Given the description of an element on the screen output the (x, y) to click on. 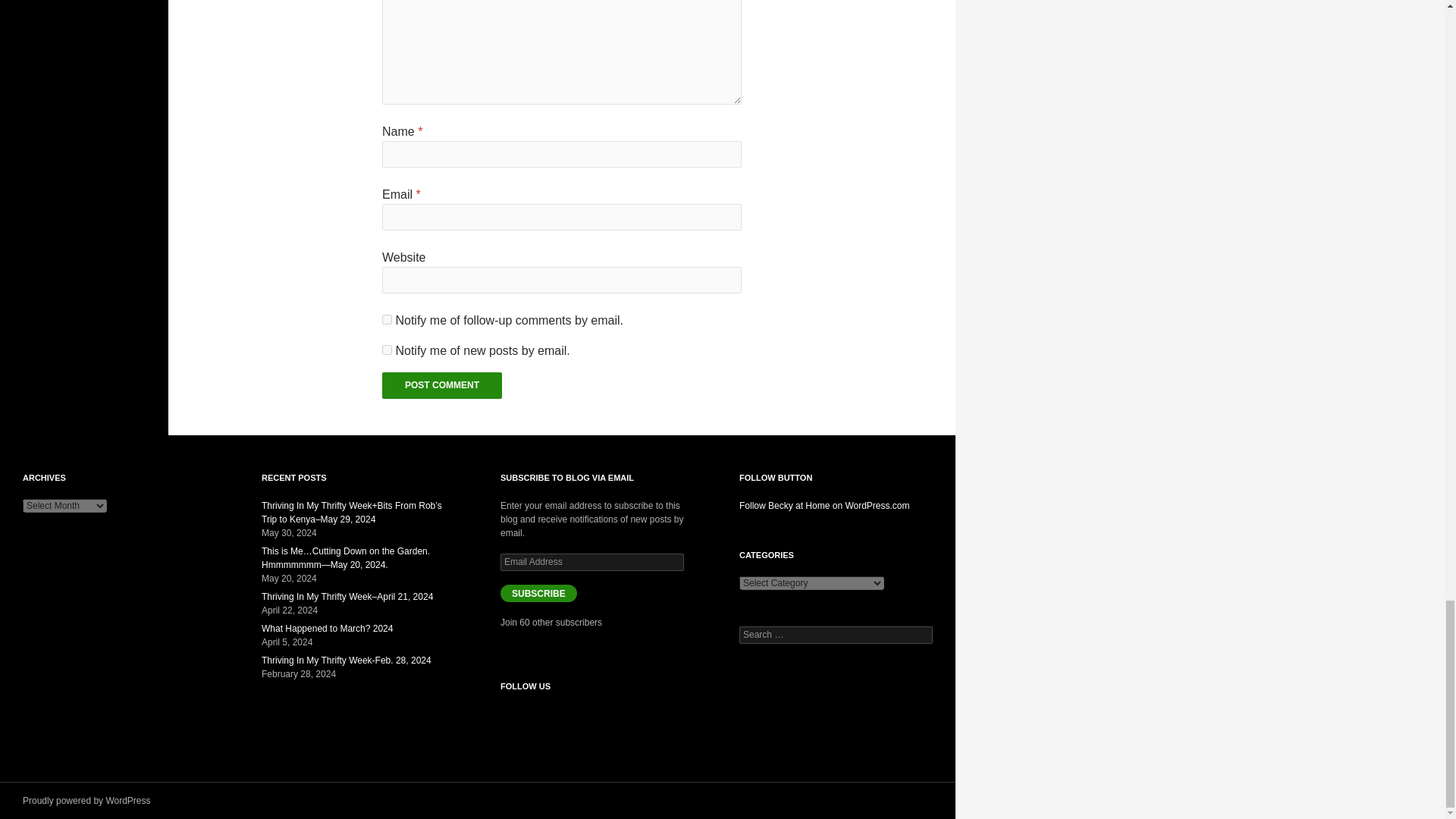
Post Comment (441, 385)
subscribe (386, 319)
subscribe (386, 349)
Post Comment (441, 385)
